Given the description of an element on the screen output the (x, y) to click on. 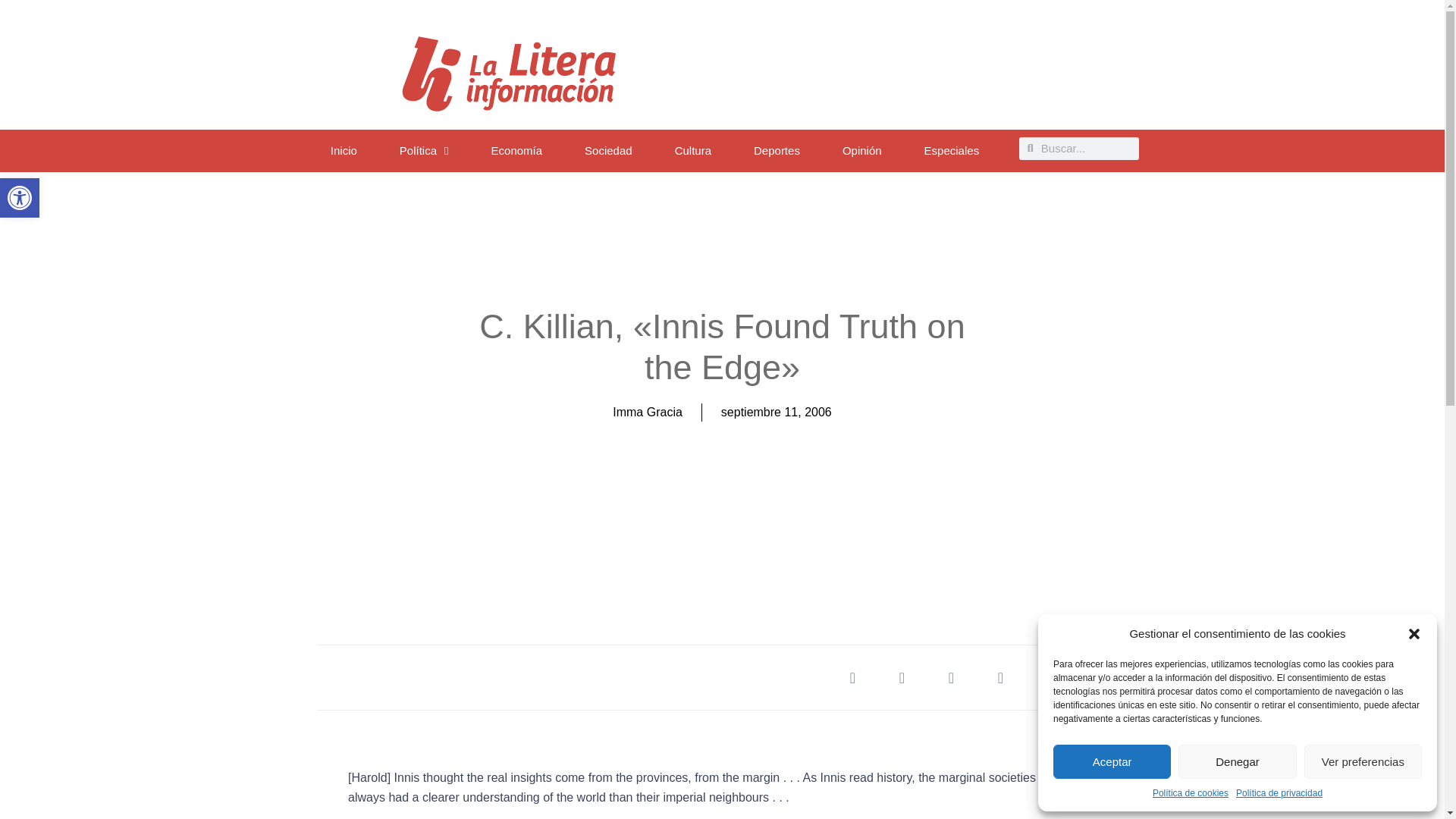
Herramientas de accesibilidad (19, 197)
Deportes (776, 150)
Denegar (19, 197)
Herramientas de accesibilidad (1236, 761)
Inicio (19, 197)
Cultura (343, 150)
Ver preferencias (692, 150)
Aceptar (1363, 761)
Especiales (1111, 761)
Sociedad (951, 150)
